Given the description of an element on the screen output the (x, y) to click on. 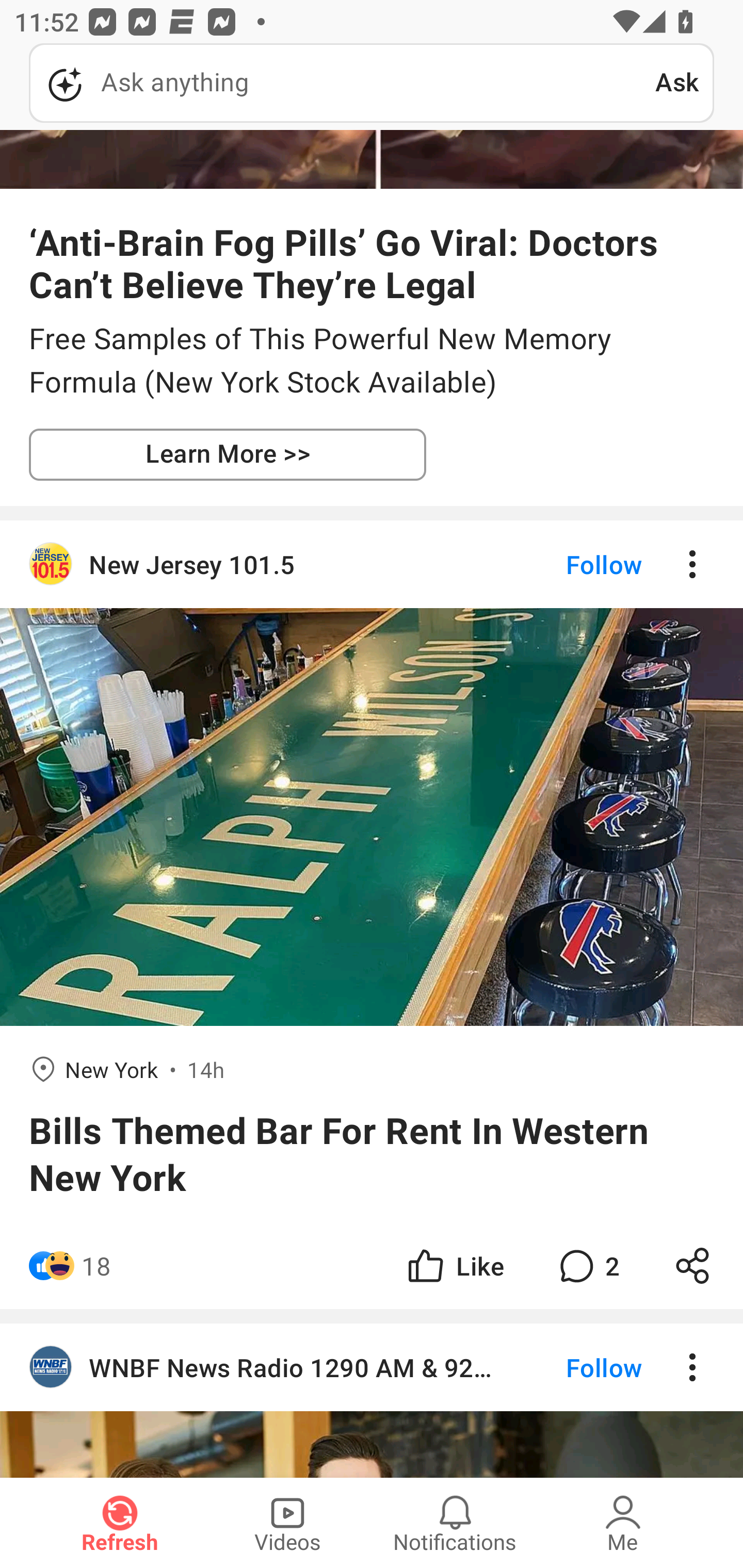
Ask anything (341, 82)
Learn More >> (227, 454)
New Jersey 101.5 Follow (371, 564)
Follow (569, 564)
18 (95, 1266)
Like (454, 1266)
2 (587, 1266)
WNBF News Radio 1290 AM & 92.1 FM Follow (371, 1367)
Follow (569, 1367)
Videos (287, 1522)
Notifications (455, 1522)
Me (622, 1522)
